Given the description of an element on the screen output the (x, y) to click on. 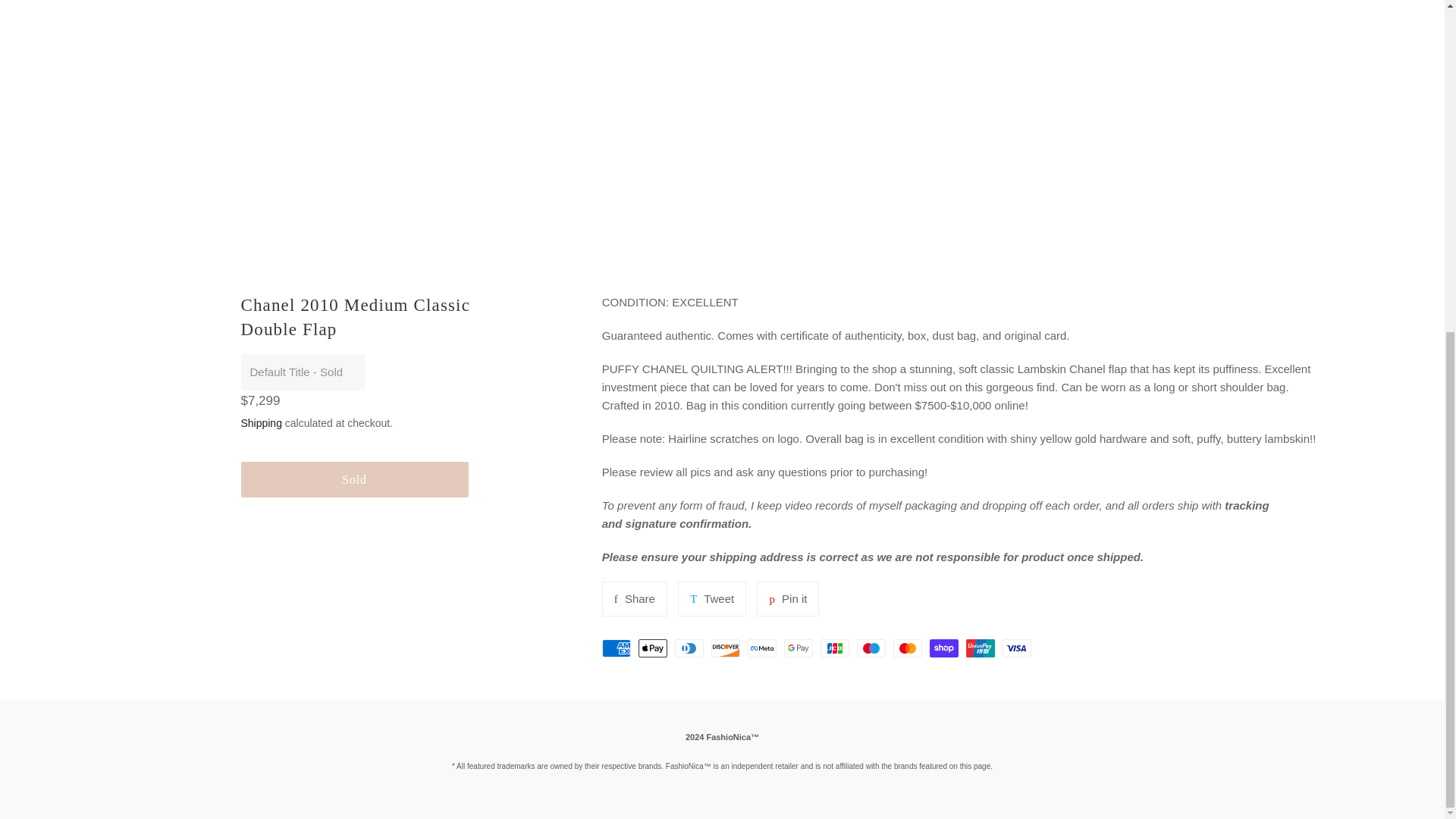
American Express (711, 598)
Pin on Pinterest (616, 648)
Maestro (787, 598)
Meta Pay (871, 648)
Tweet on Twitter (762, 648)
Union Pay (711, 598)
Shipping (980, 648)
Visa (261, 422)
JCB (1016, 648)
Shop Pay (787, 598)
Sold (834, 648)
Google Pay (944, 648)
Mastercard (354, 479)
